Given the description of an element on the screen output the (x, y) to click on. 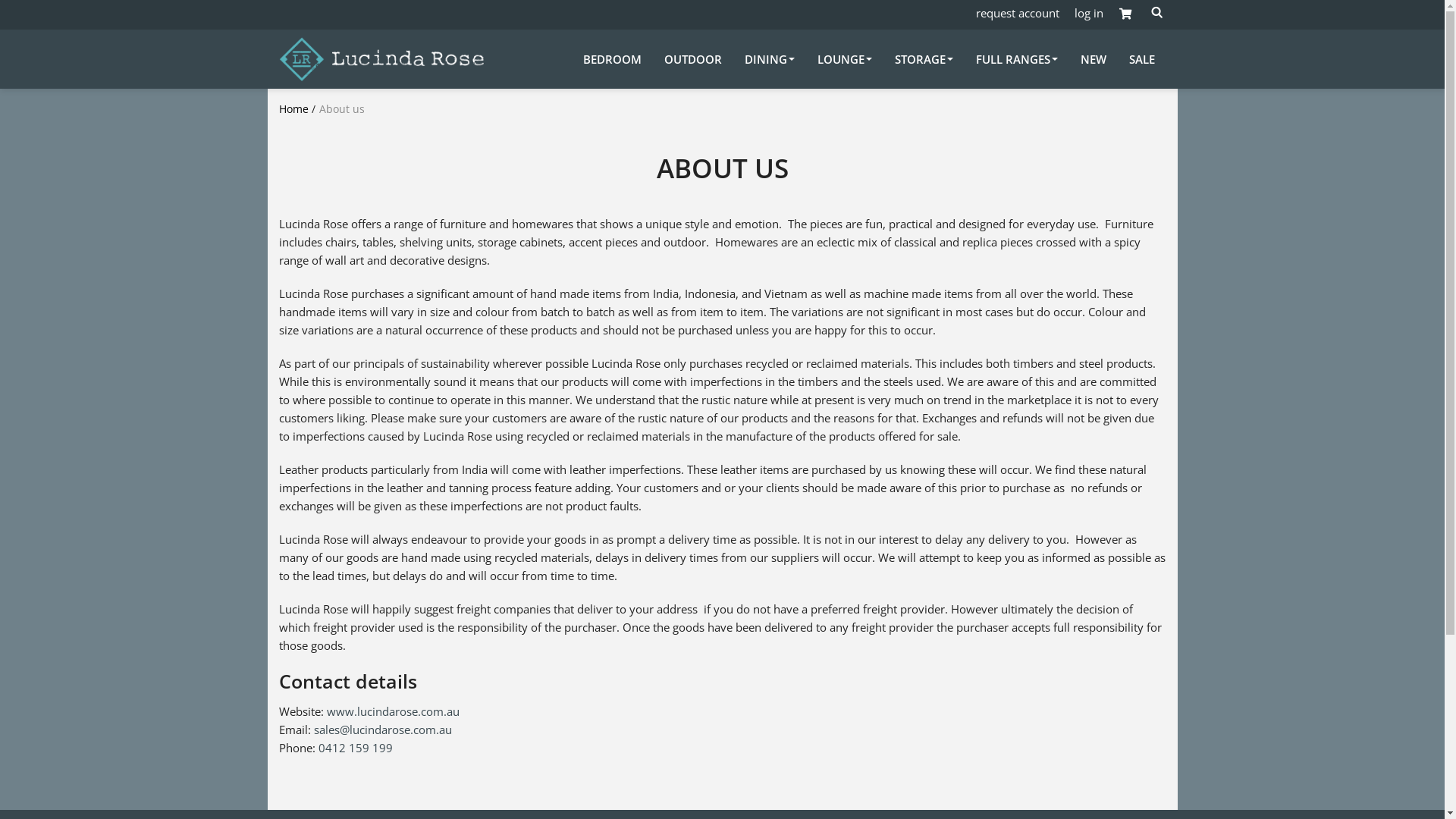
NEW Element type: text (1092, 58)
0412 159 199 Element type: text (355, 747)
request account Element type: text (1016, 12)
Shopping cart button Element type: text (1124, 14)
LOUNGE Element type: text (844, 58)
Home Element type: text (293, 108)
FULL RANGES Element type: text (1016, 58)
OUTDOOR Element type: text (692, 58)
sales@lucindarose.com.au Element type: text (382, 729)
Open search form Element type: text (1155, 12)
DINING Element type: text (769, 58)
log in Element type: text (1087, 12)
STORAGE Element type: text (923, 58)
www.lucindarose.com.au Element type: text (392, 710)
BEDROOM Element type: text (611, 58)
SALE Element type: text (1141, 58)
